Given the description of an element on the screen output the (x, y) to click on. 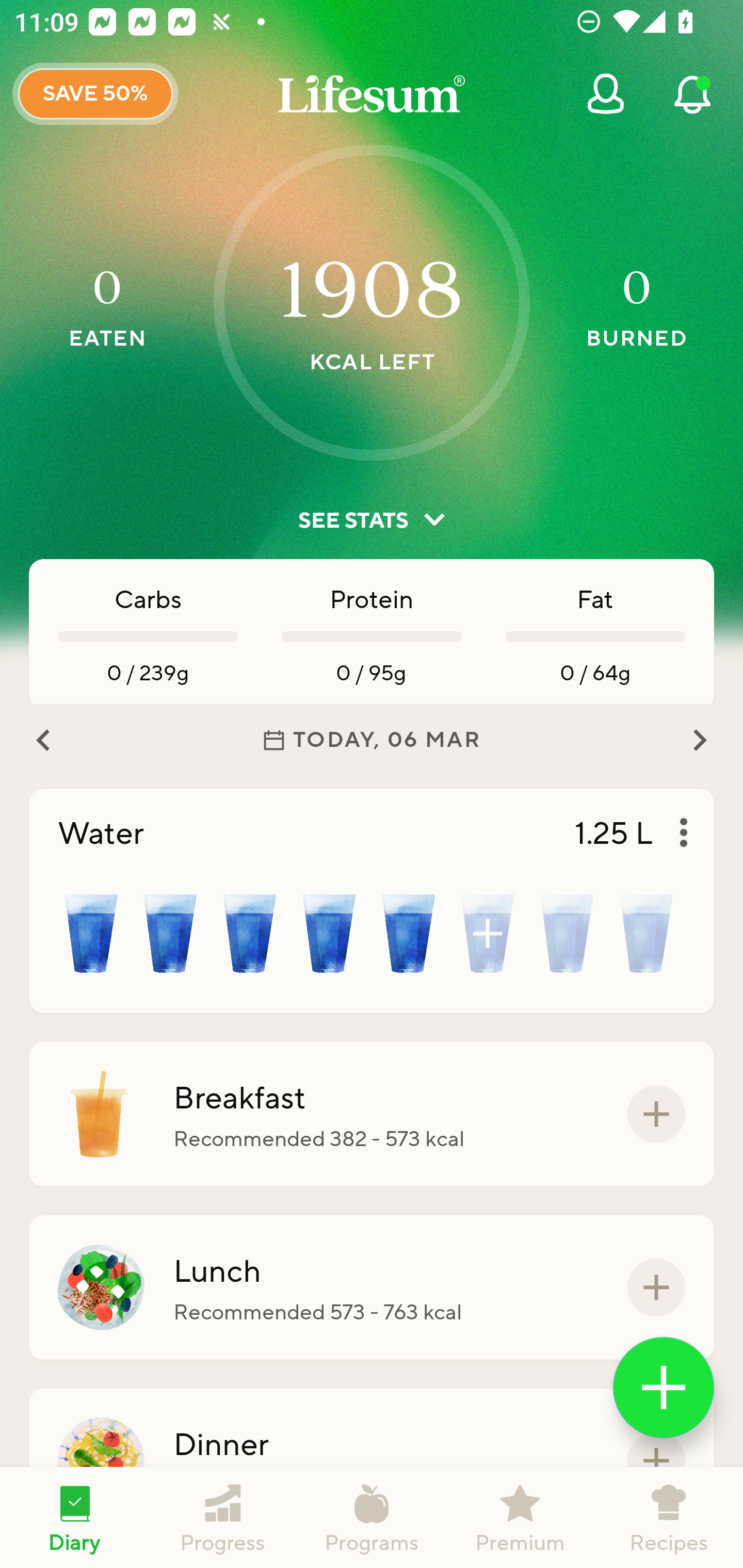
SEE STATS (371, 519)
TODAY, 06 MAR (371, 739)
Breakfast Recommended 382 - 573 kcal (371, 1113)
Lunch Recommended 573 - 763 kcal (371, 1287)
Dinner Recommended 573 - 763 kcal (371, 1461)
Progress (222, 1517)
Programs (371, 1517)
Premium (519, 1517)
Recipes (668, 1517)
